Given the description of an element on the screen output the (x, y) to click on. 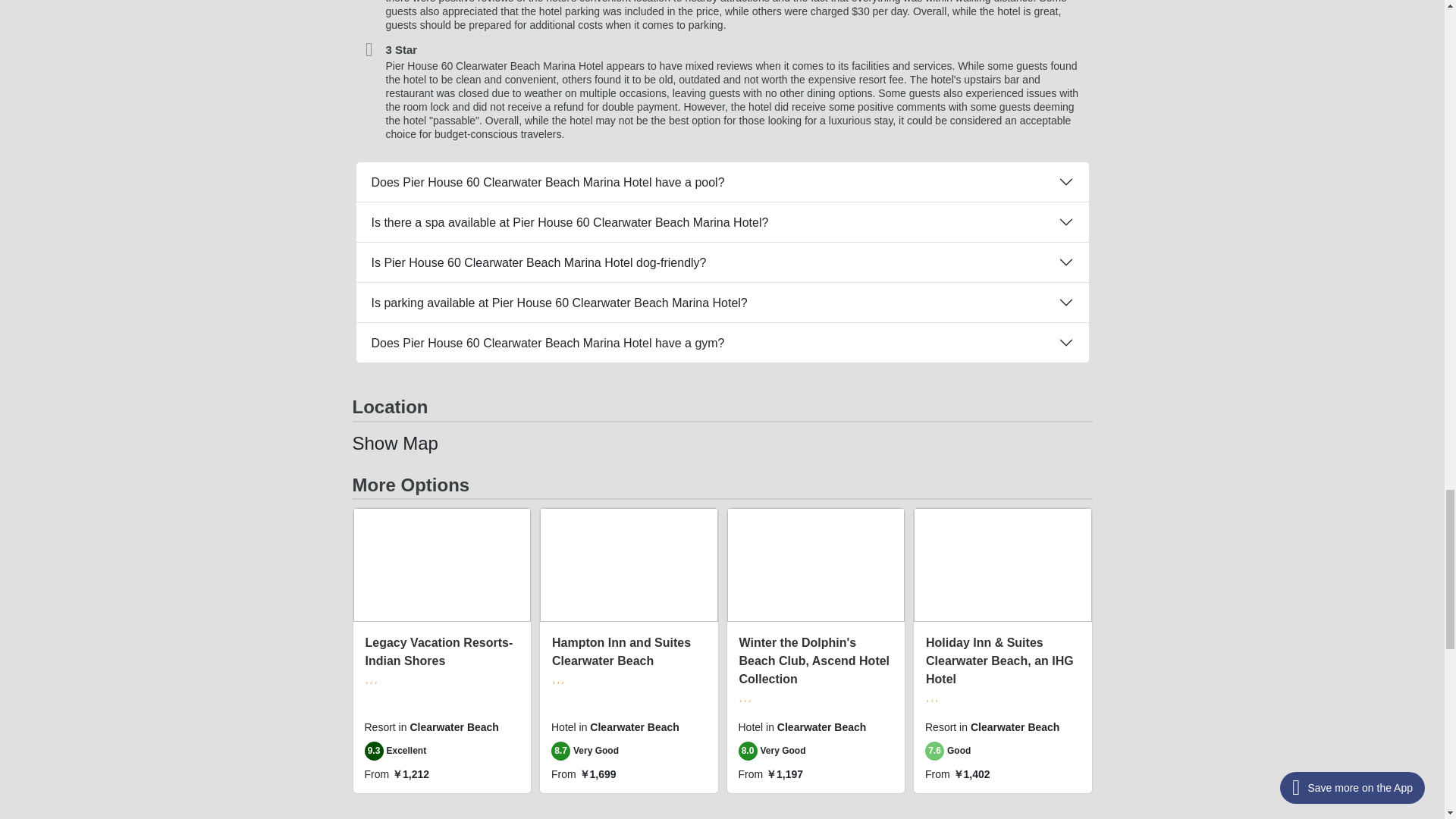
Winter the Dolphin's Beach Club, Ascend Hotel Collection (813, 660)
Legacy Vacation Resorts-Indian Shores (439, 651)
Winter the Dolphin's Beach Club, Ascend Hotel Collection (813, 660)
Does Pier House 60 Clearwater Beach Marina Hotel have a gym? (722, 342)
Show Map (395, 443)
Hampton Inn and Suites Clearwater Beach (620, 651)
Hampton Inn and Suites Clearwater Beach (620, 651)
Legacy Vacation Resorts-Indian Shores (439, 651)
Is Pier House 60 Clearwater Beach Marina Hotel dog-friendly? (722, 261)
